Given the description of an element on the screen output the (x, y) to click on. 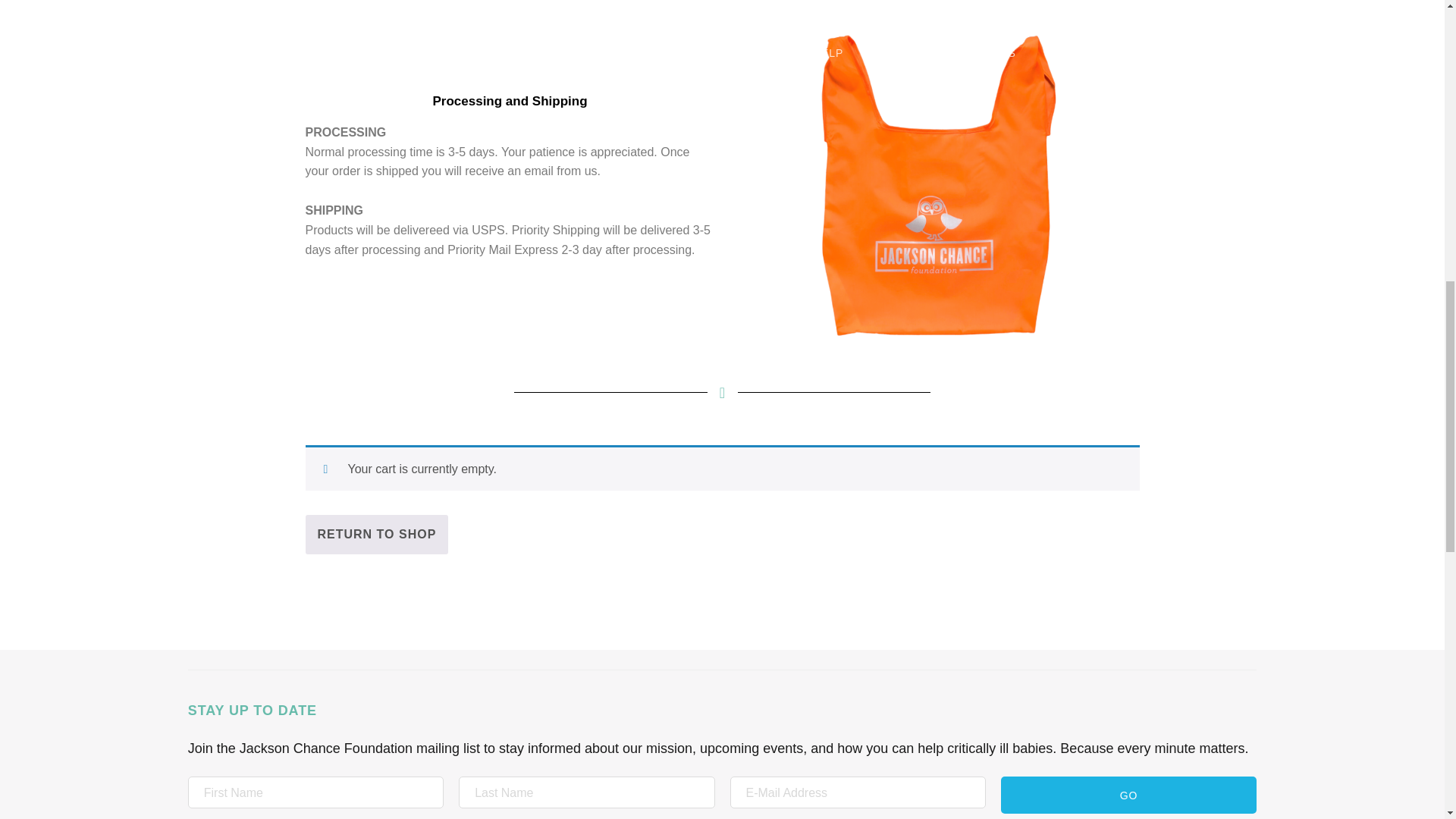
Go (1128, 795)
RETURN TO SHOP (376, 534)
Go (1128, 795)
